Given the description of an element on the screen output the (x, y) to click on. 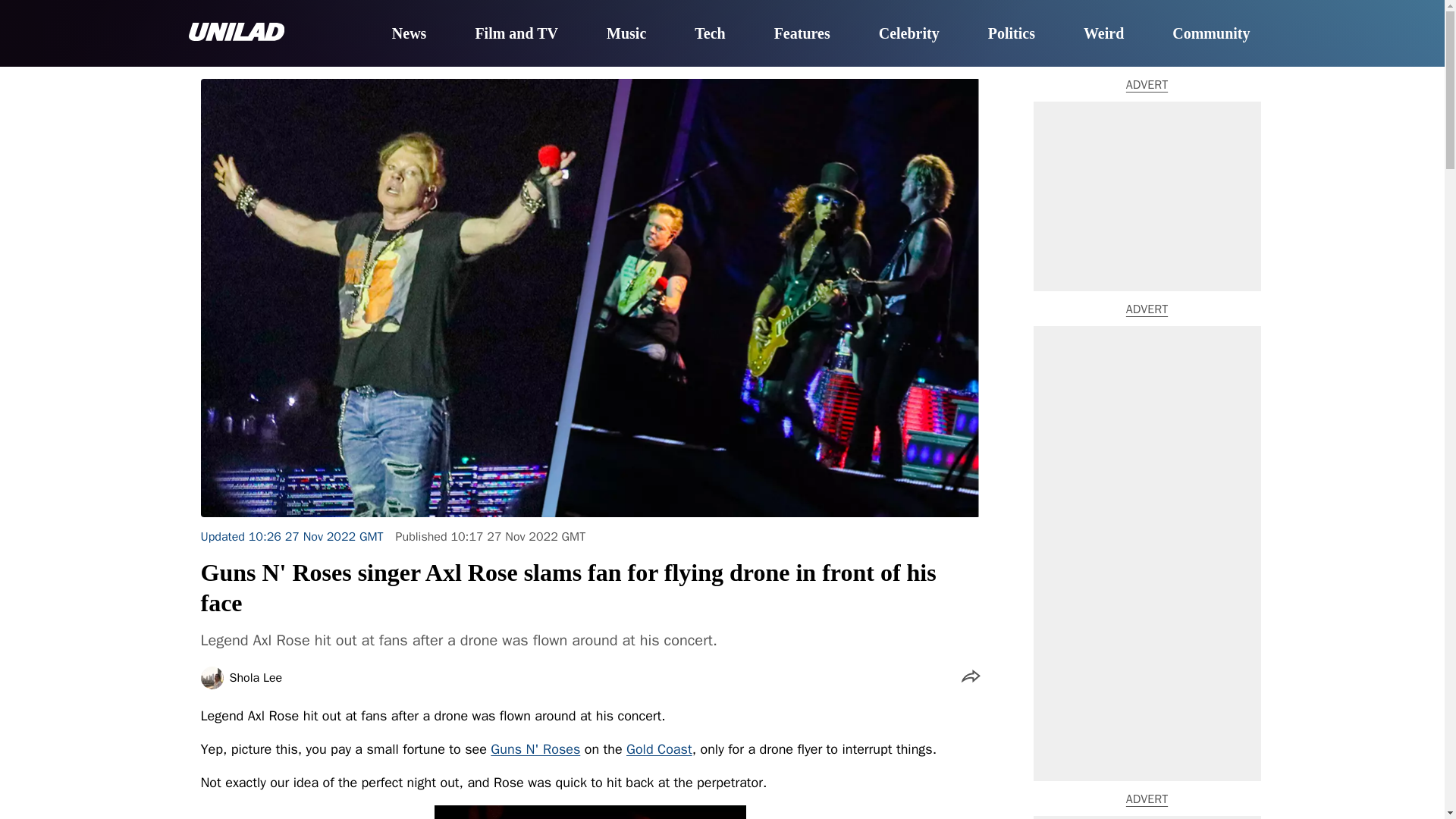
Politics (1011, 34)
Music (626, 34)
Weird (1103, 34)
3rd party ad content (1146, 817)
News (408, 34)
Guns N' Roses (534, 749)
Features (801, 34)
Shola Lee (255, 677)
Celebrity (909, 34)
Gold Coast (659, 749)
Film and TV (515, 34)
Community (1210, 34)
Tech (709, 34)
